Given the description of an element on the screen output the (x, y) to click on. 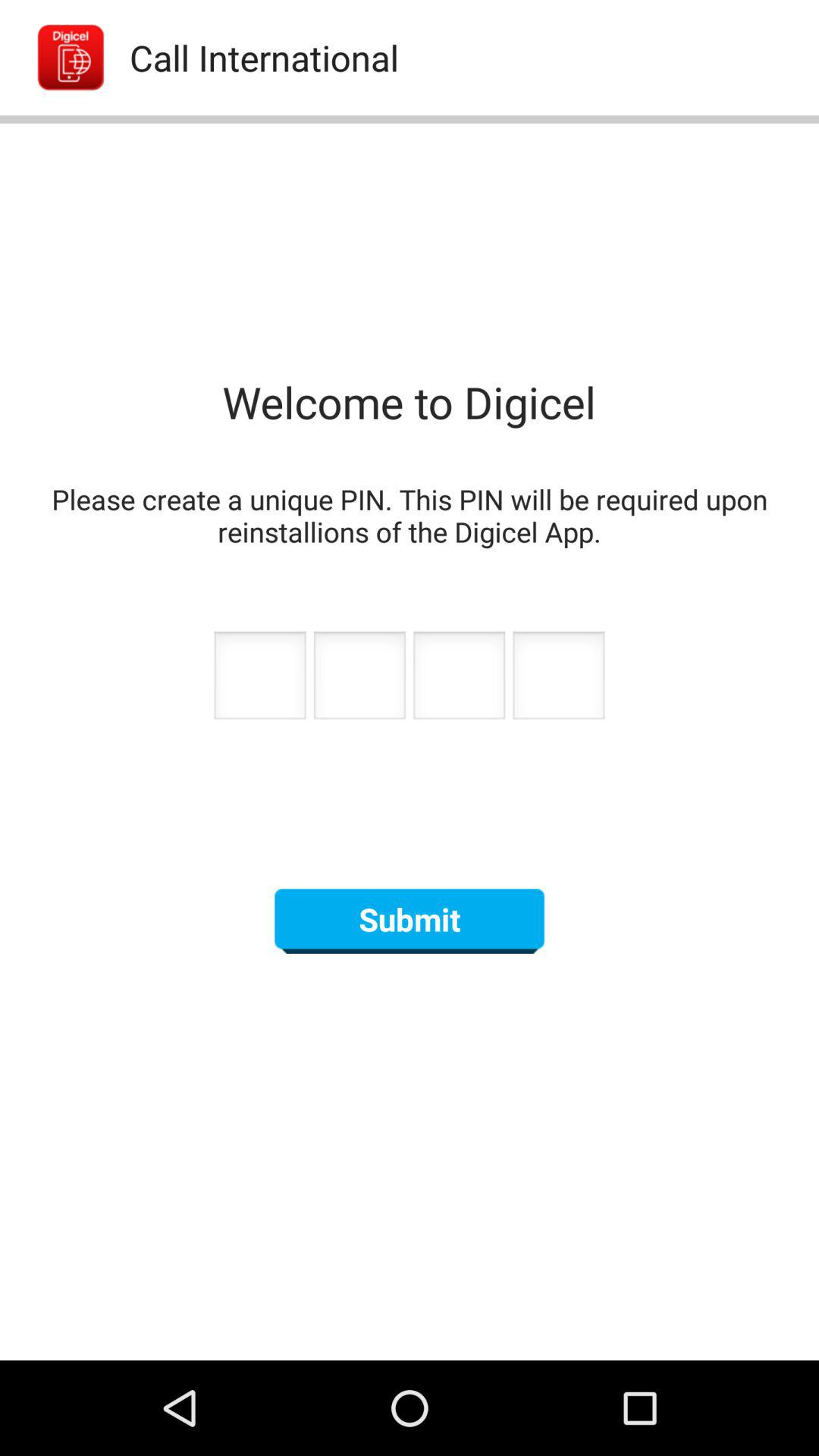
tap icon next to call international app (54, 57)
